Given the description of an element on the screen output the (x, y) to click on. 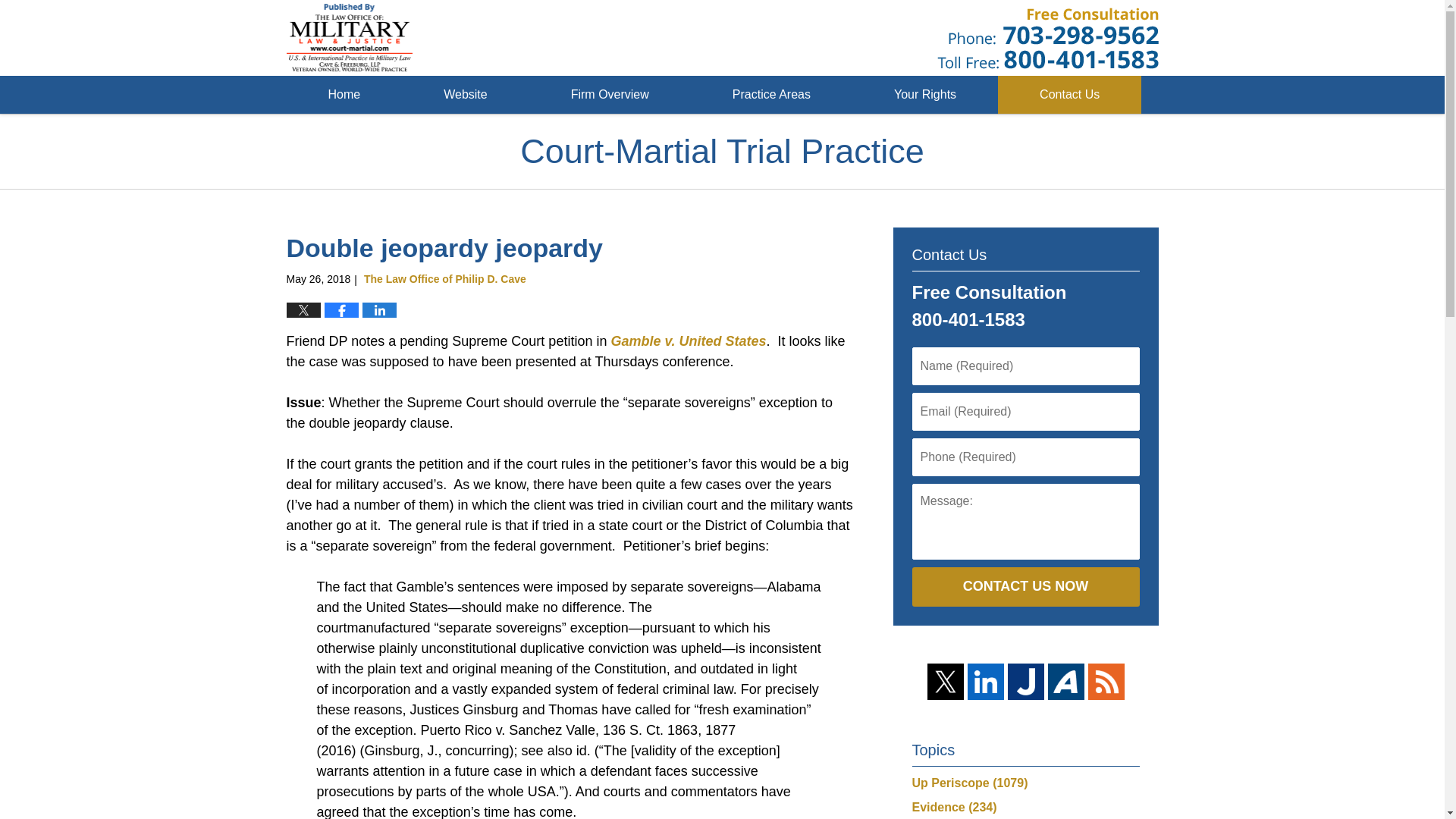
Home (344, 94)
CONTACT US NOW (1024, 586)
Court-Martial Trial Practice Blog (349, 38)
Firm Overview (609, 94)
Practice Areas (770, 94)
Your Rights (924, 94)
Published By The Law Office of Philip D. Cave (1047, 37)
Justia (1025, 681)
Please enter a valid phone number. (1024, 456)
AVVO (1066, 681)
Twitter (944, 681)
Feed (1105, 681)
LinkedIn (986, 681)
Gamble v. United States (686, 340)
Contact Us (1069, 94)
